Given the description of an element on the screen output the (x, y) to click on. 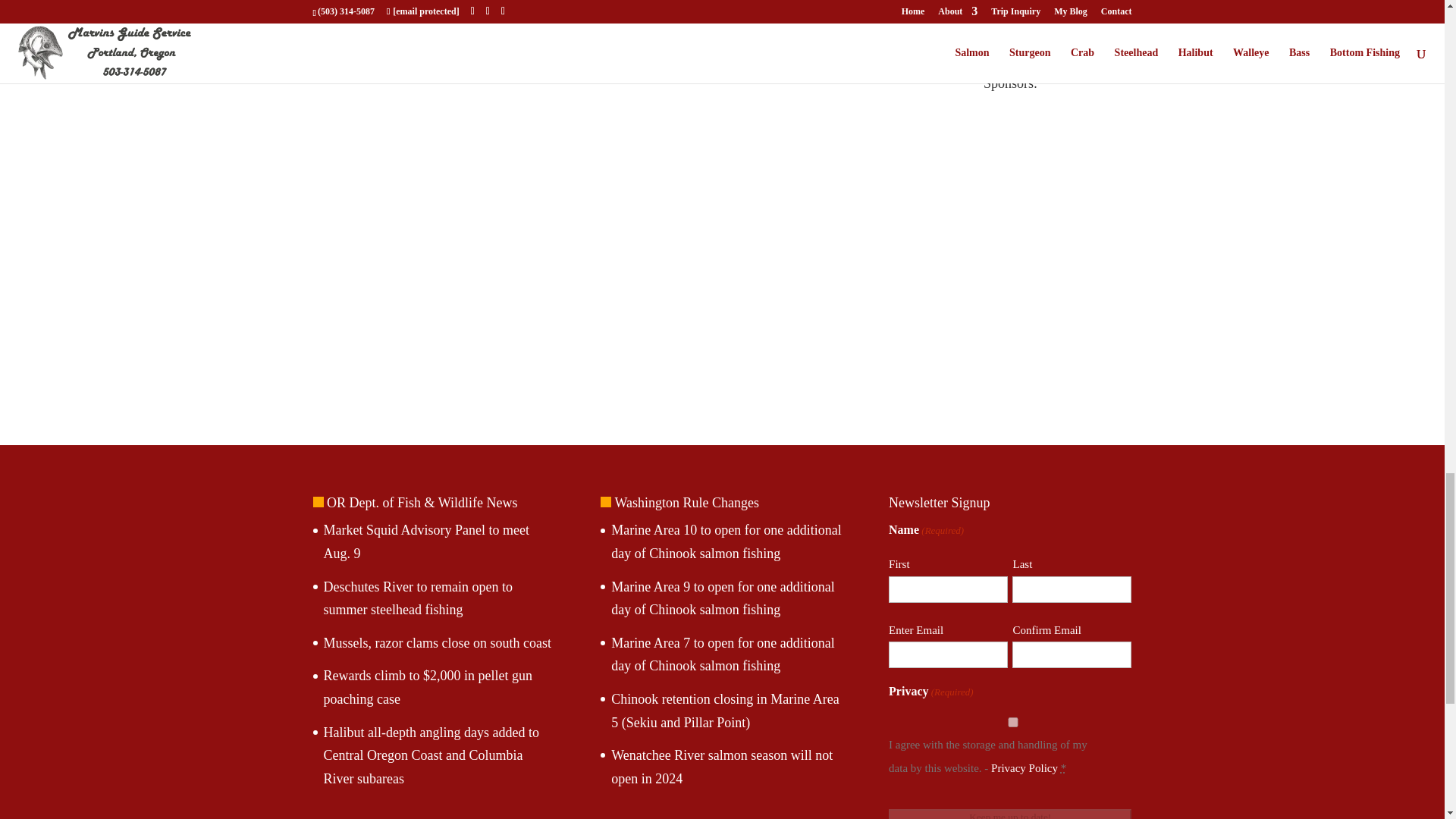
Keep me up to date! (1009, 814)
